Given the description of an element on the screen output the (x, y) to click on. 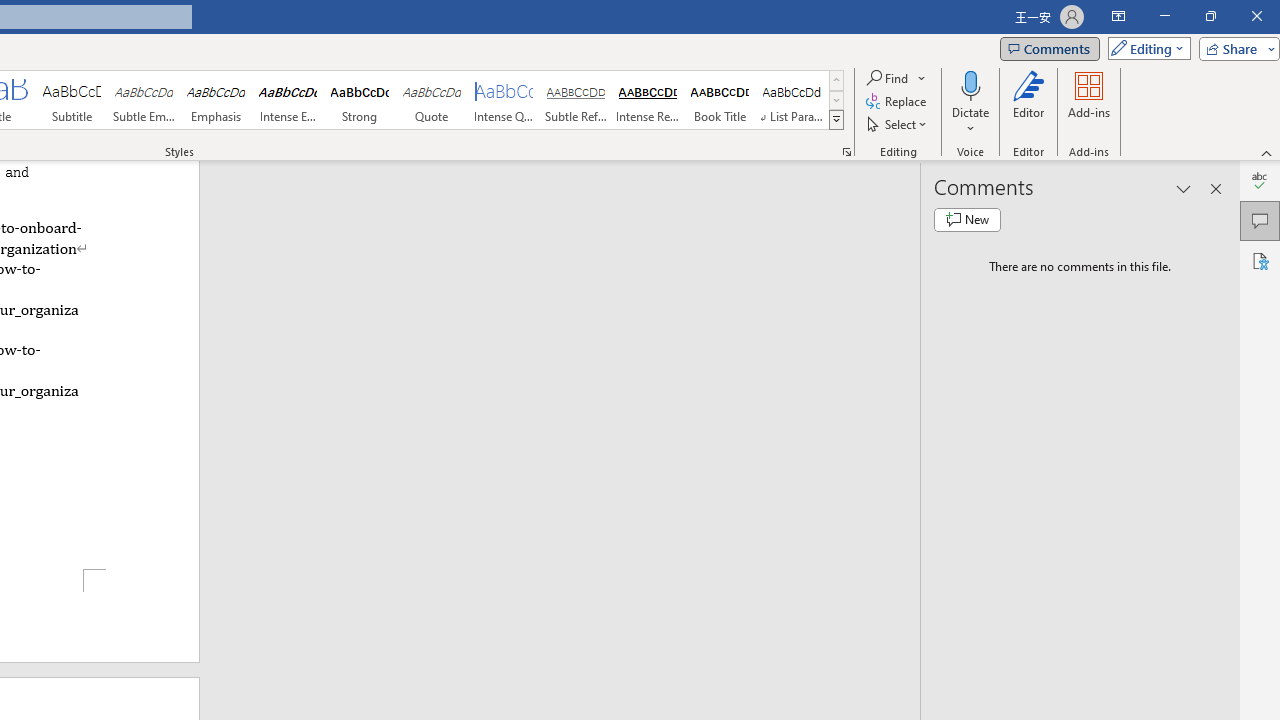
Comments (1260, 220)
New comment (967, 219)
Styles... (846, 151)
Intense Emphasis (287, 100)
Close (1256, 16)
Collapse the Ribbon (1267, 152)
More Options (970, 121)
Styles (836, 120)
Row Down (836, 100)
